Given the description of an element on the screen output the (x, y) to click on. 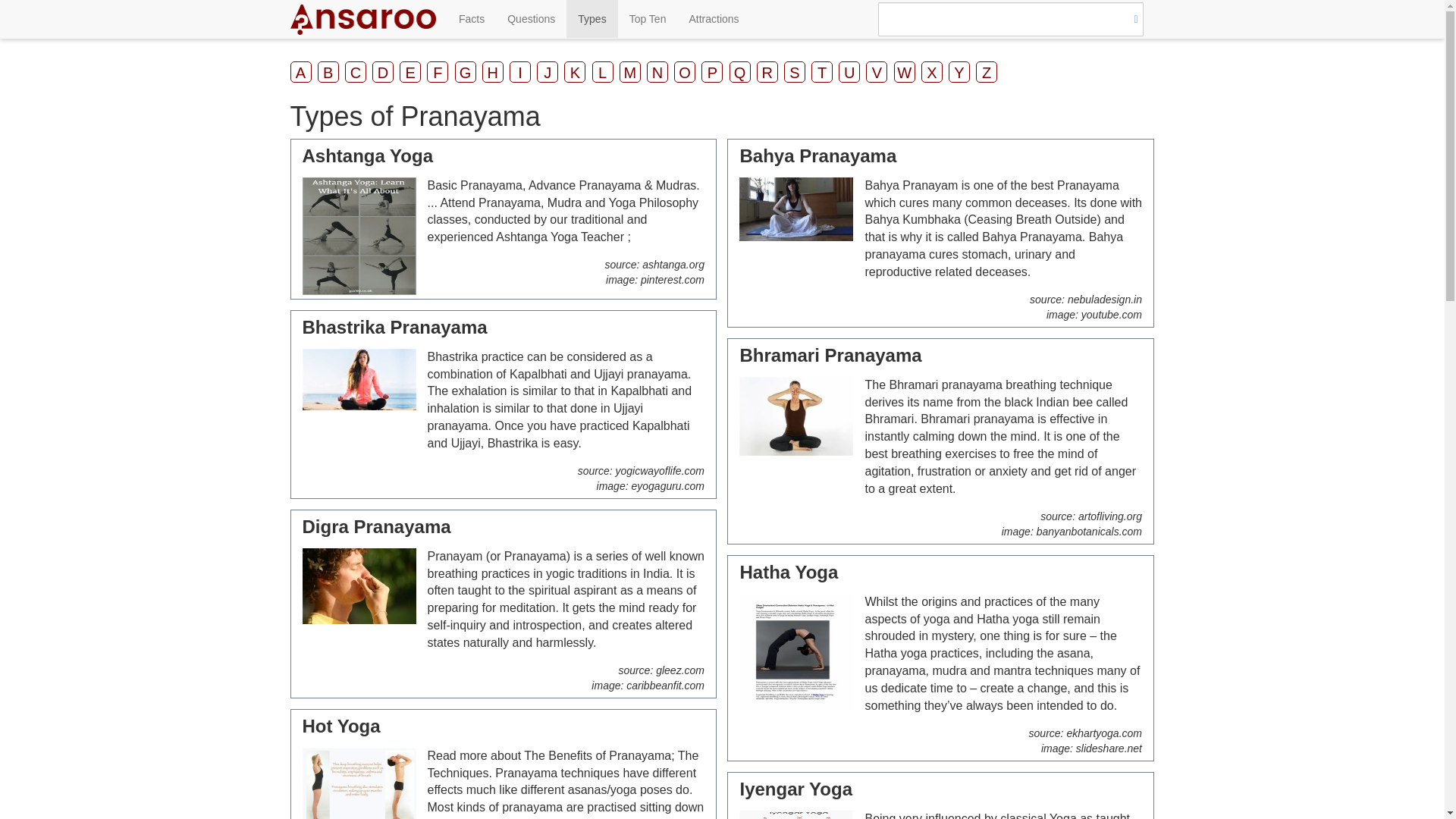
E (409, 71)
X (931, 71)
yogicwayoflife.com (659, 470)
R (767, 71)
Facts (471, 18)
T (821, 71)
S (794, 71)
Attractions (713, 18)
ashtanga.org (673, 264)
W (904, 71)
F (437, 71)
D (382, 71)
Types (591, 18)
Q (740, 71)
C (355, 71)
